Given the description of an element on the screen output the (x, y) to click on. 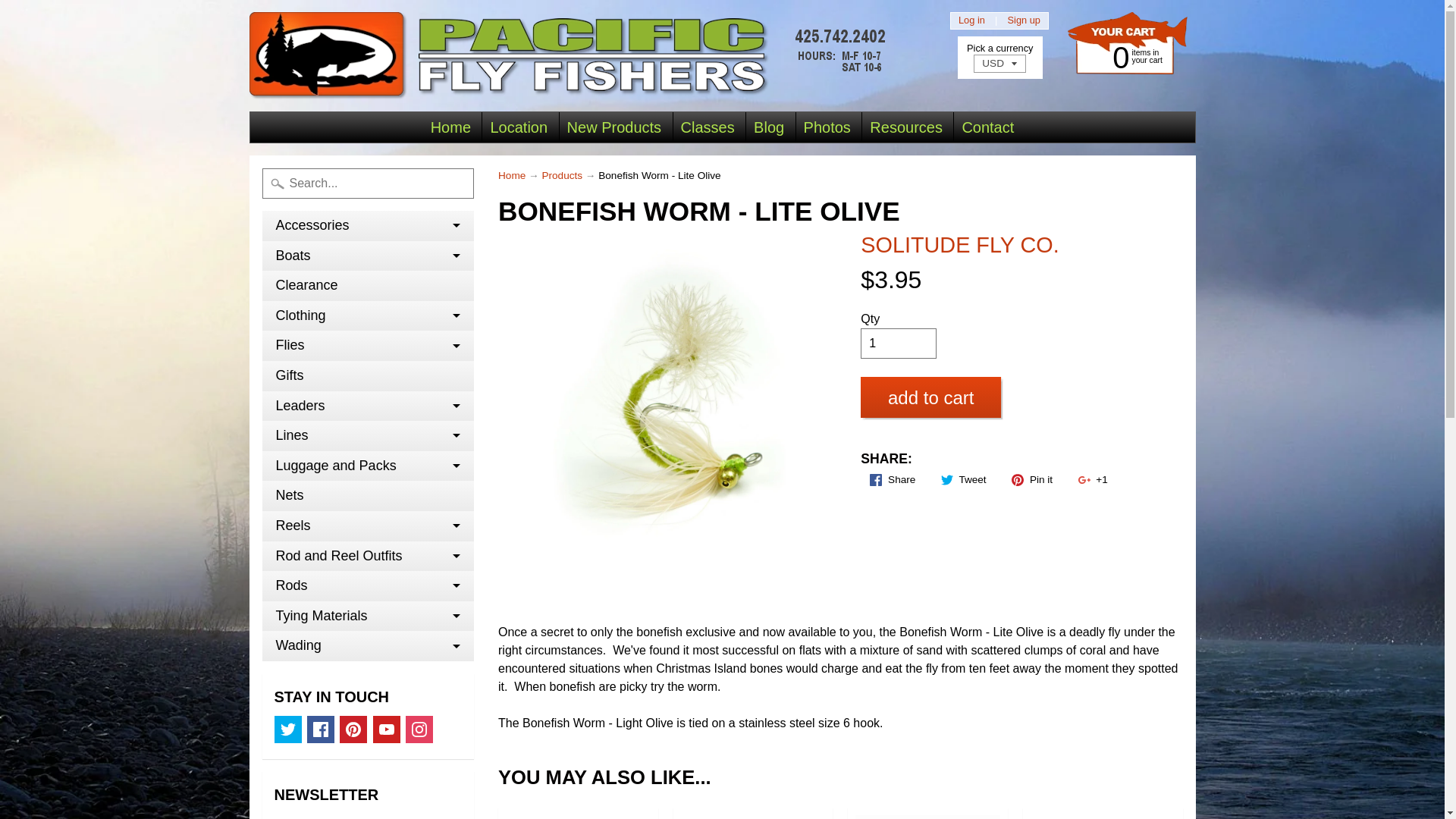
Contact (987, 127)
Accessories (368, 225)
Pin on Pinterest (1032, 479)
Pacific Fly Fishers (570, 55)
Instagram (419, 728)
Blog (768, 127)
Location (517, 127)
Alphonse Crab (577, 813)
Classes (1122, 56)
